Given the description of an element on the screen output the (x, y) to click on. 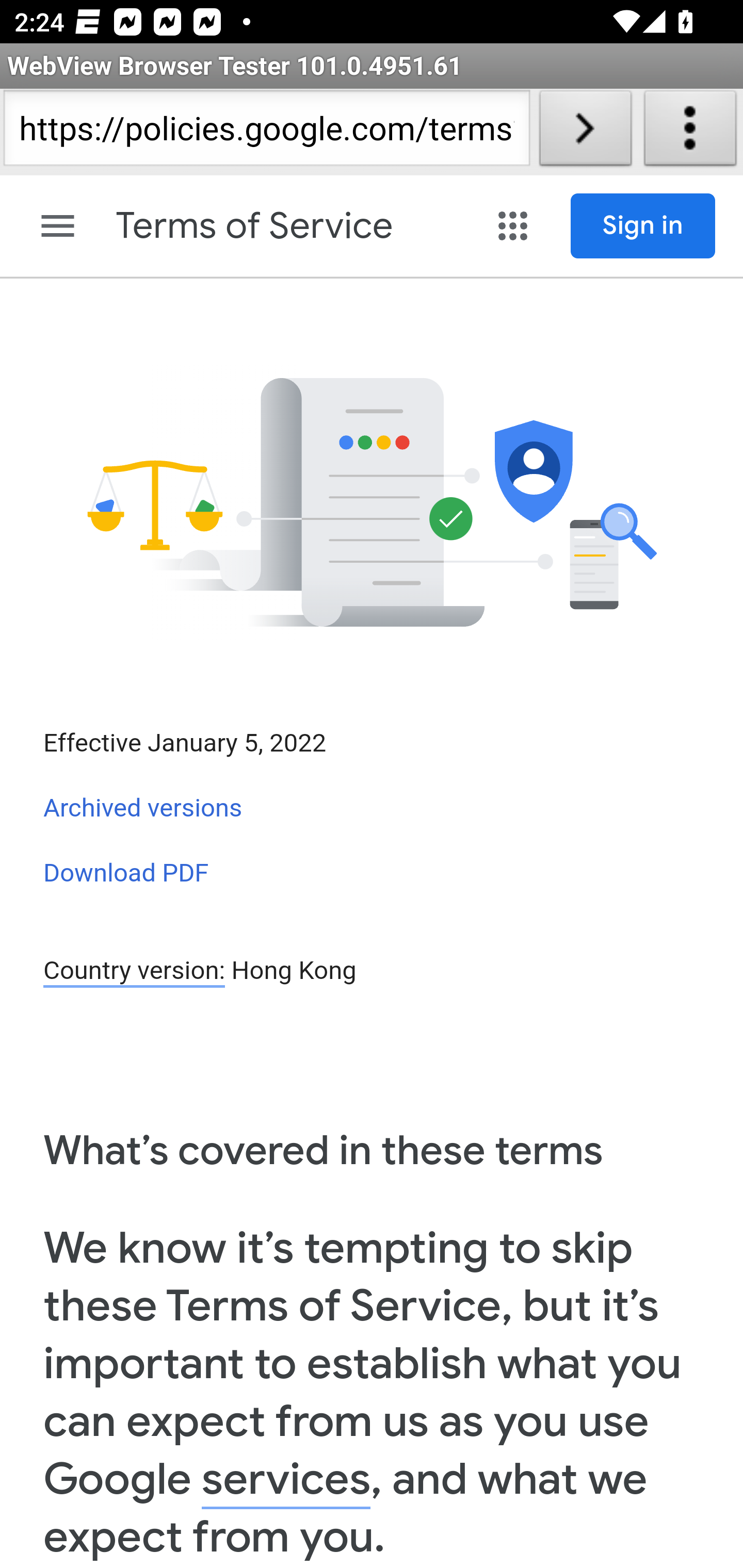
https://policies.google.com/terms?hl=en-US (266, 132)
Load URL (585, 132)
About WebView (690, 132)
Main menu (58, 226)
Google apps (513, 226)
Sign in (643, 226)
Archived versions (143, 808)
Download PDF (126, 872)
Country version: (134, 971)
services (285, 1479)
